Given the description of an element on the screen output the (x, y) to click on. 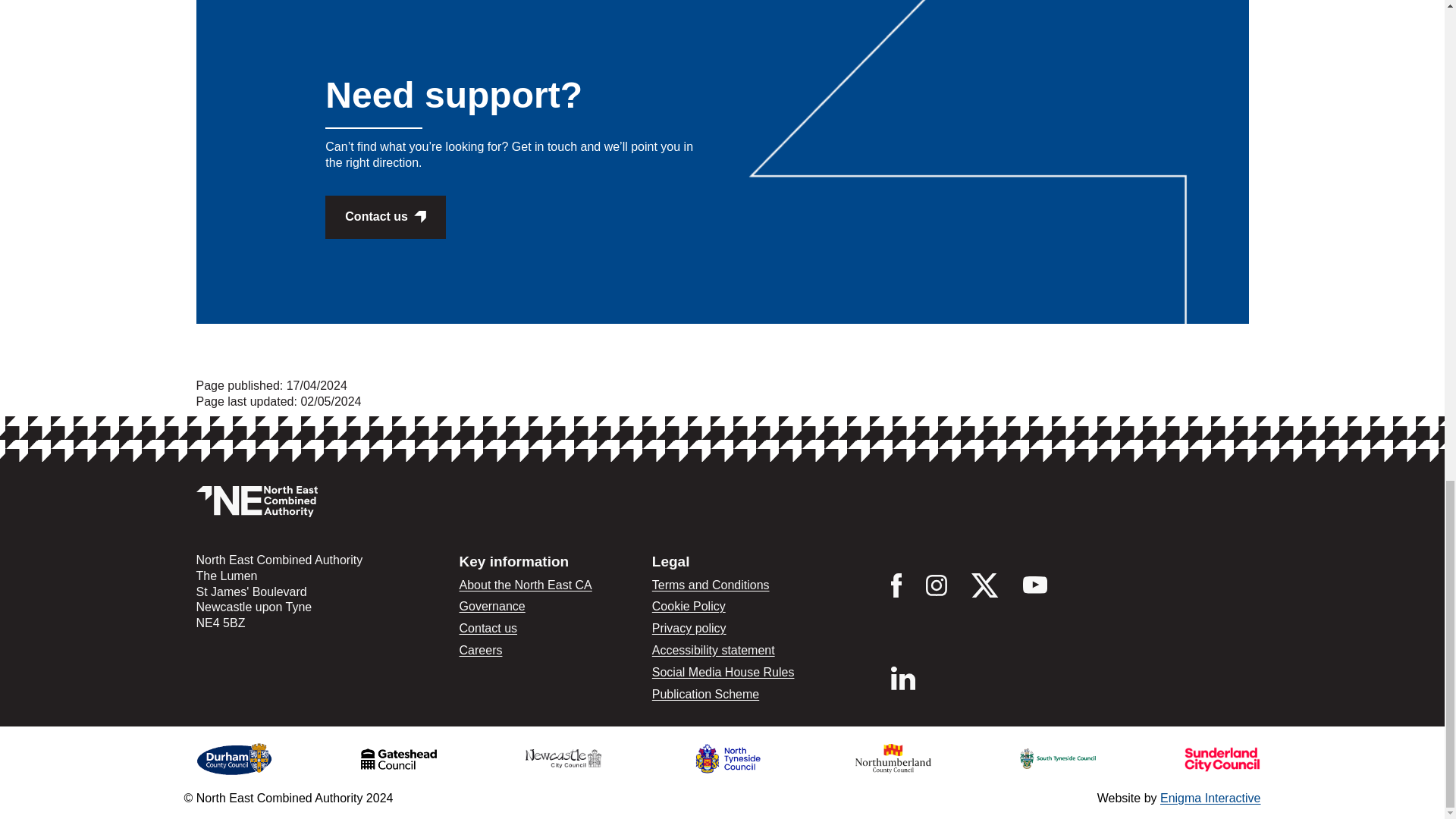
Privacy policy (689, 627)
Careers (481, 649)
Social Media House Rules (723, 671)
Careers (481, 649)
Governance (492, 605)
Enigma Interactive (1210, 797)
Privacy policy (689, 627)
Accessibility statement (713, 649)
Terms and Conditions (711, 584)
Contact us (384, 217)
Governance (492, 605)
Cookie Policy (688, 605)
Accessibility statement (713, 649)
Contact us (488, 627)
About the North East CA (526, 584)
